Given the description of an element on the screen output the (x, y) to click on. 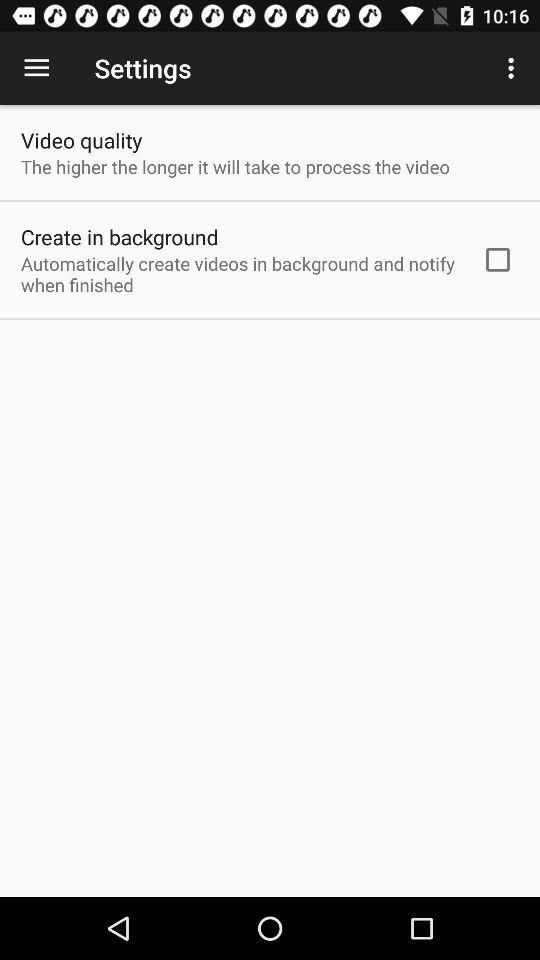
launch icon above the video quality (36, 68)
